Given the description of an element on the screen output the (x, y) to click on. 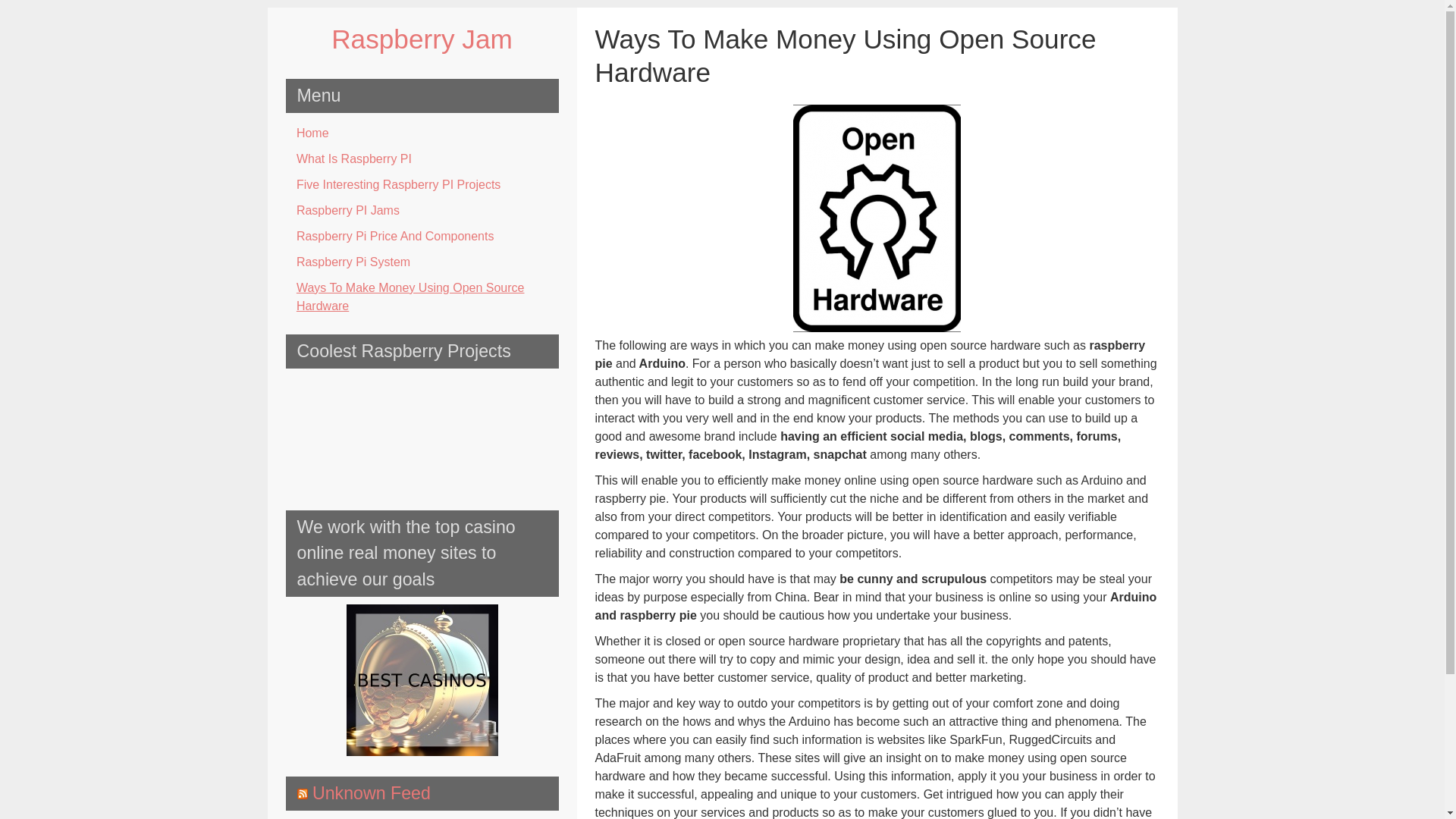
What Is Raspberry PI (421, 158)
Raspberry Jam (421, 39)
Raspberry Jam (421, 39)
Ways To Make Money Using Open Source Hardware (421, 297)
Home (421, 133)
Raspberry Pi System (421, 262)
Five Interesting Raspberry PI Projects (421, 184)
Raspberry Pi Price And Components (421, 236)
Raspberry PI Jams (421, 210)
Unknown Feed (371, 792)
